Given the description of an element on the screen output the (x, y) to click on. 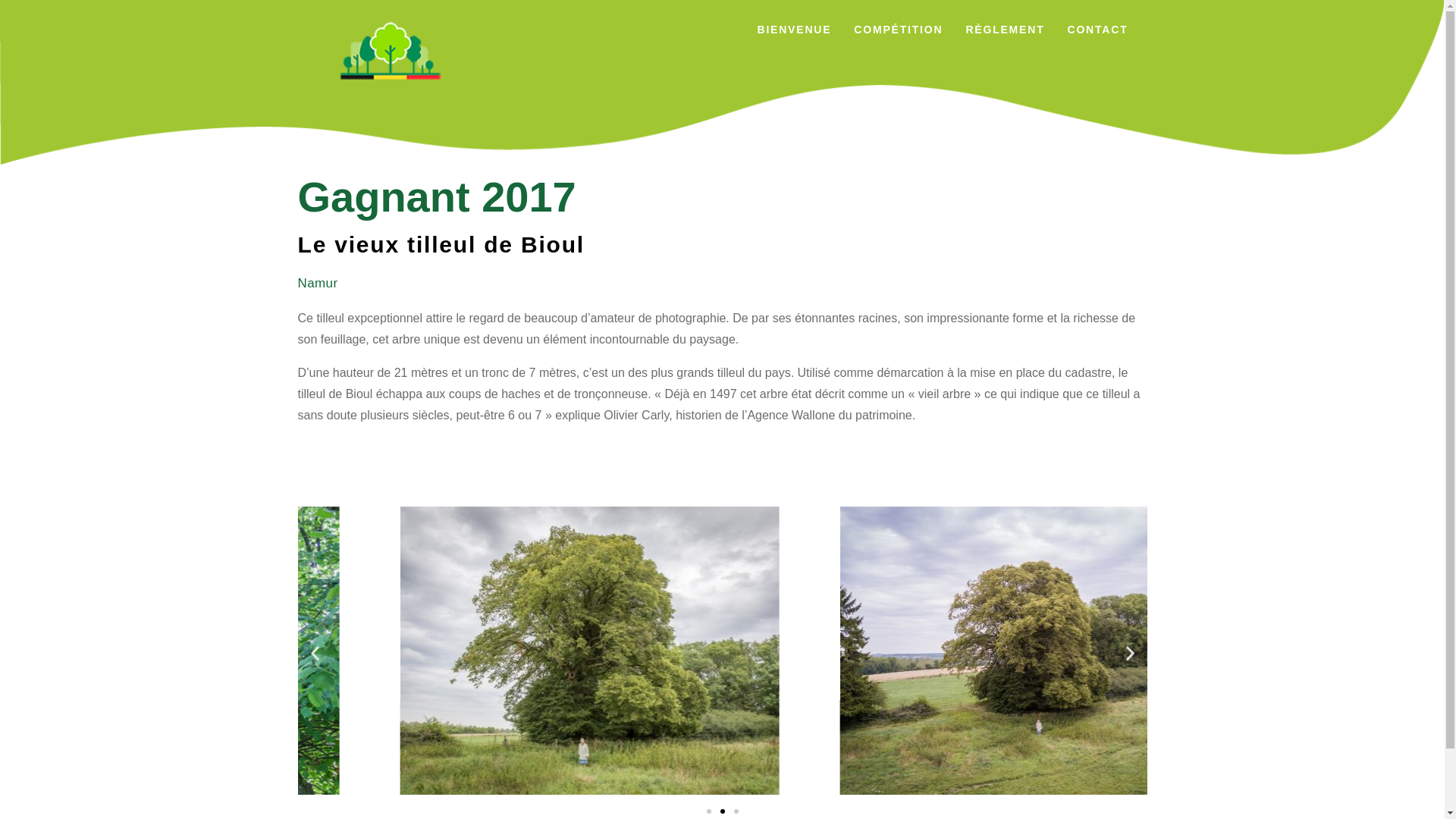
CONTACT Element type: text (1097, 29)
BIENVENUE Element type: text (793, 29)
